Given the description of an element on the screen output the (x, y) to click on. 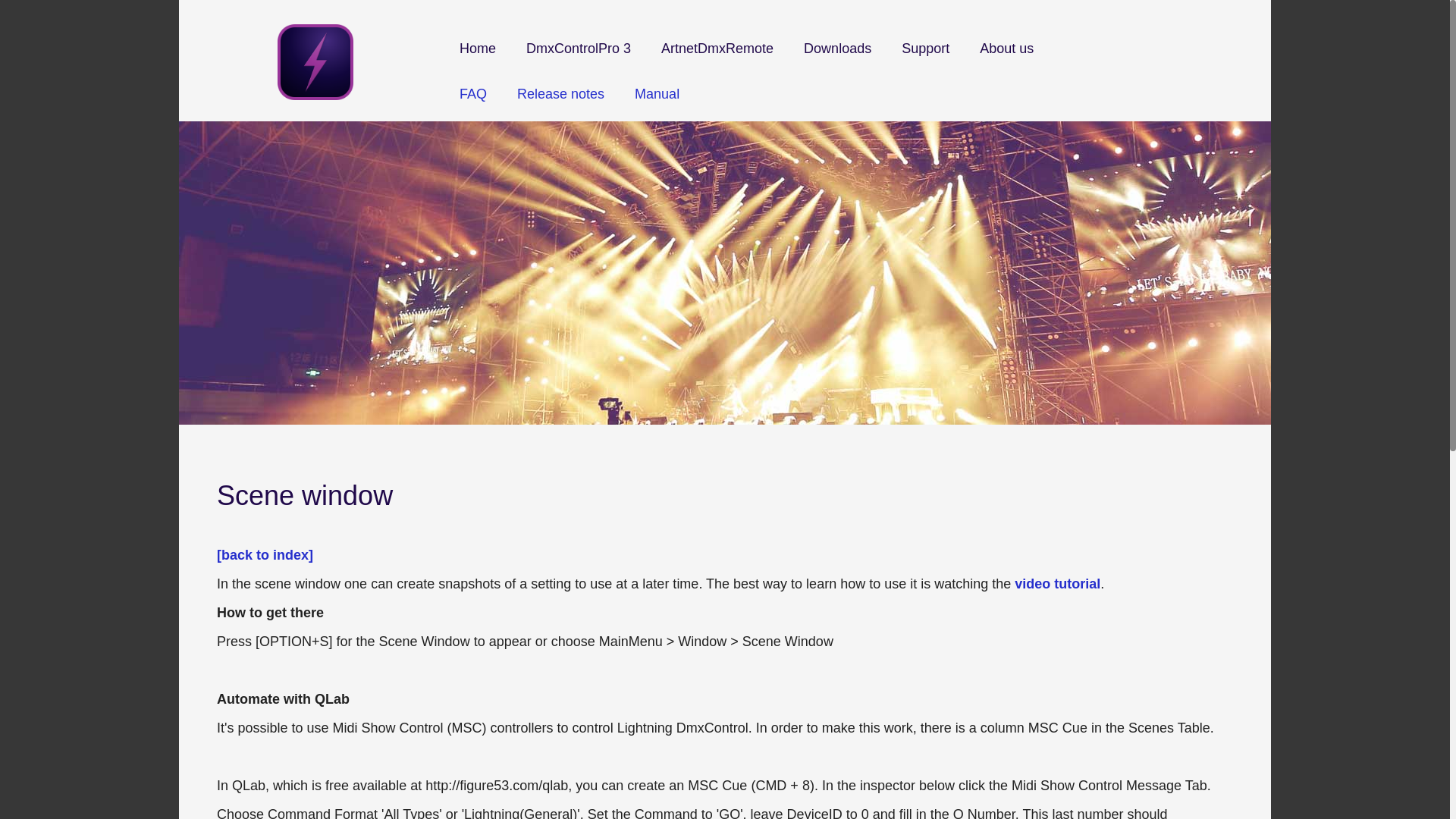
ArtnetDmxRemote (716, 57)
Home (477, 57)
video tutorial (1057, 583)
Manual (657, 103)
DmxControlPro 3 (578, 57)
FAQ (473, 103)
Downloads (837, 57)
Release notes (560, 103)
About us (1006, 57)
Support (924, 57)
